Given the description of an element on the screen output the (x, y) to click on. 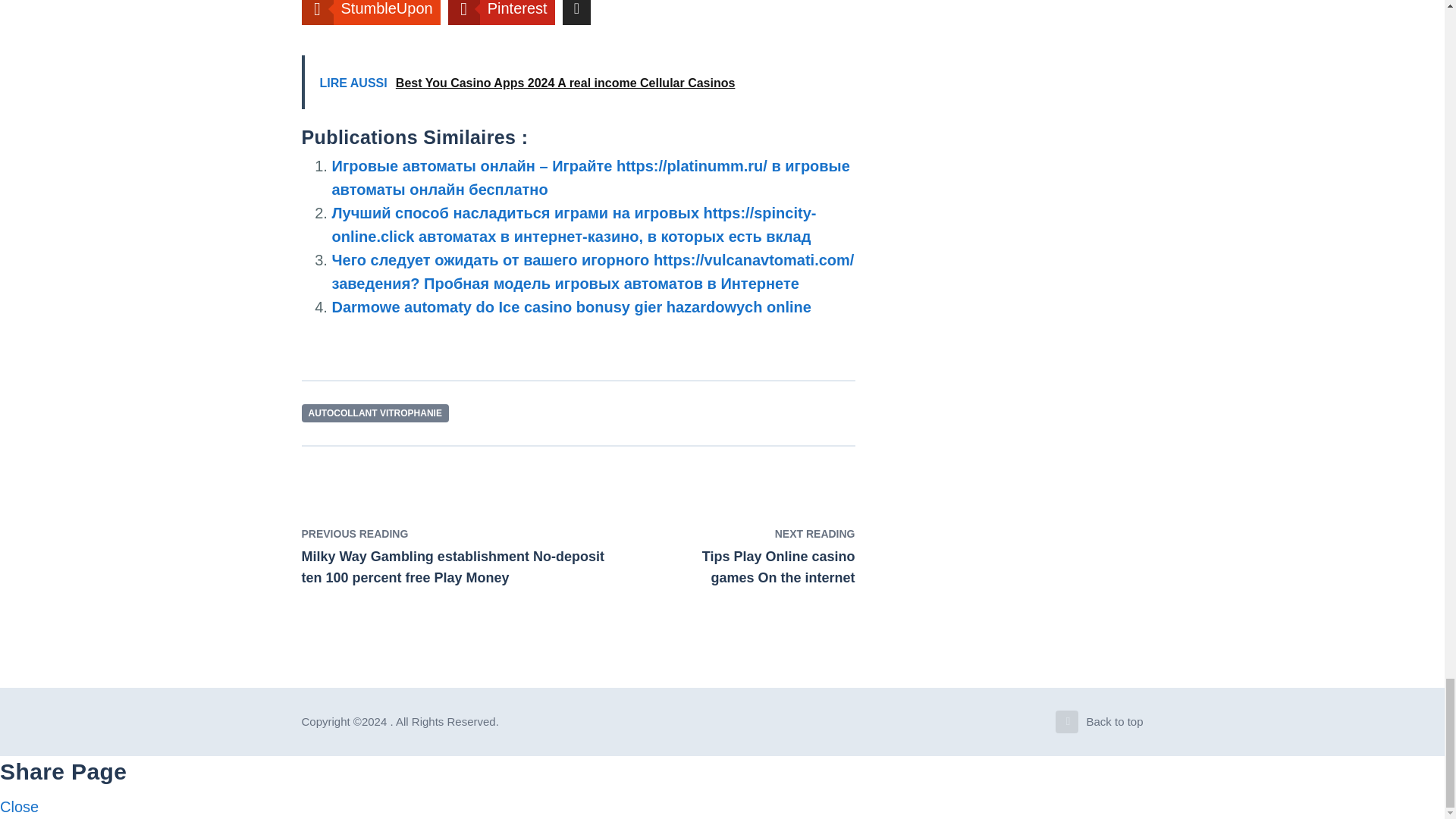
StumbleUpon (752, 557)
Back to top (371, 12)
Pinterest (1098, 721)
AUTOCOLLANT VITROPHANIE (501, 12)
